Given the description of an element on the screen output the (x, y) to click on. 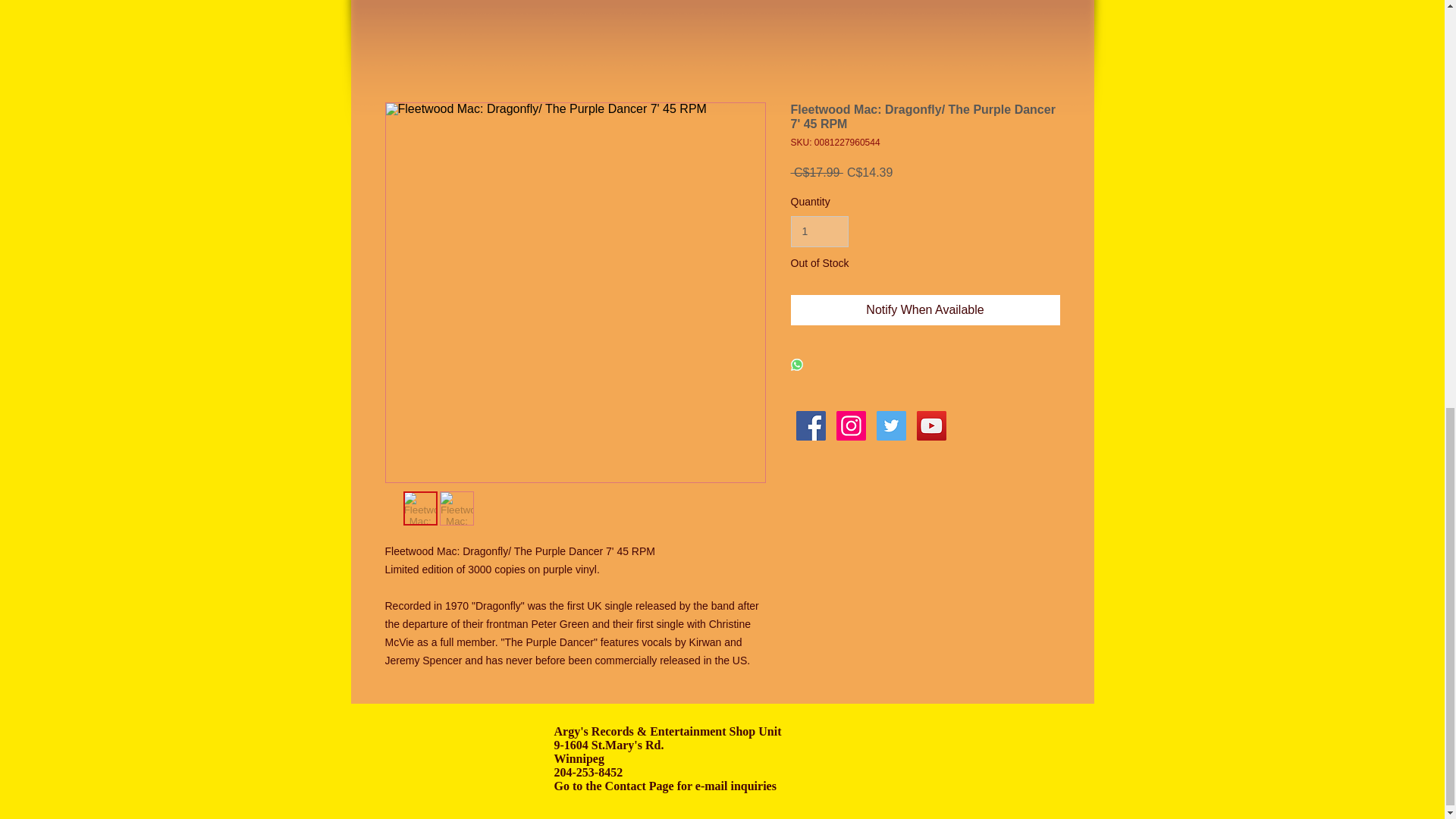
Go to the Contact Page for e-mail inquiries (664, 785)
1 (818, 231)
Notify When Available (924, 309)
